Given the description of an element on the screen output the (x, y) to click on. 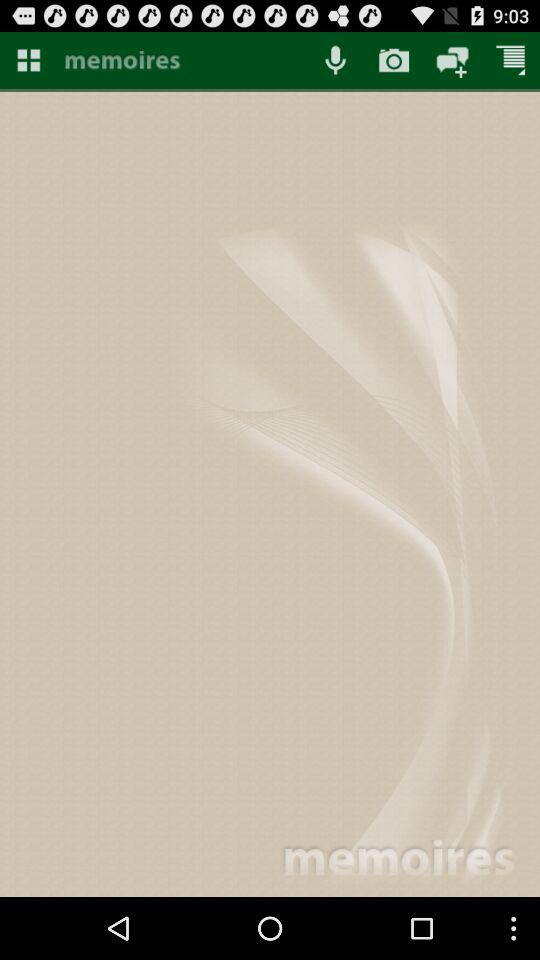
show memoires (182, 61)
